Given the description of an element on the screen output the (x, y) to click on. 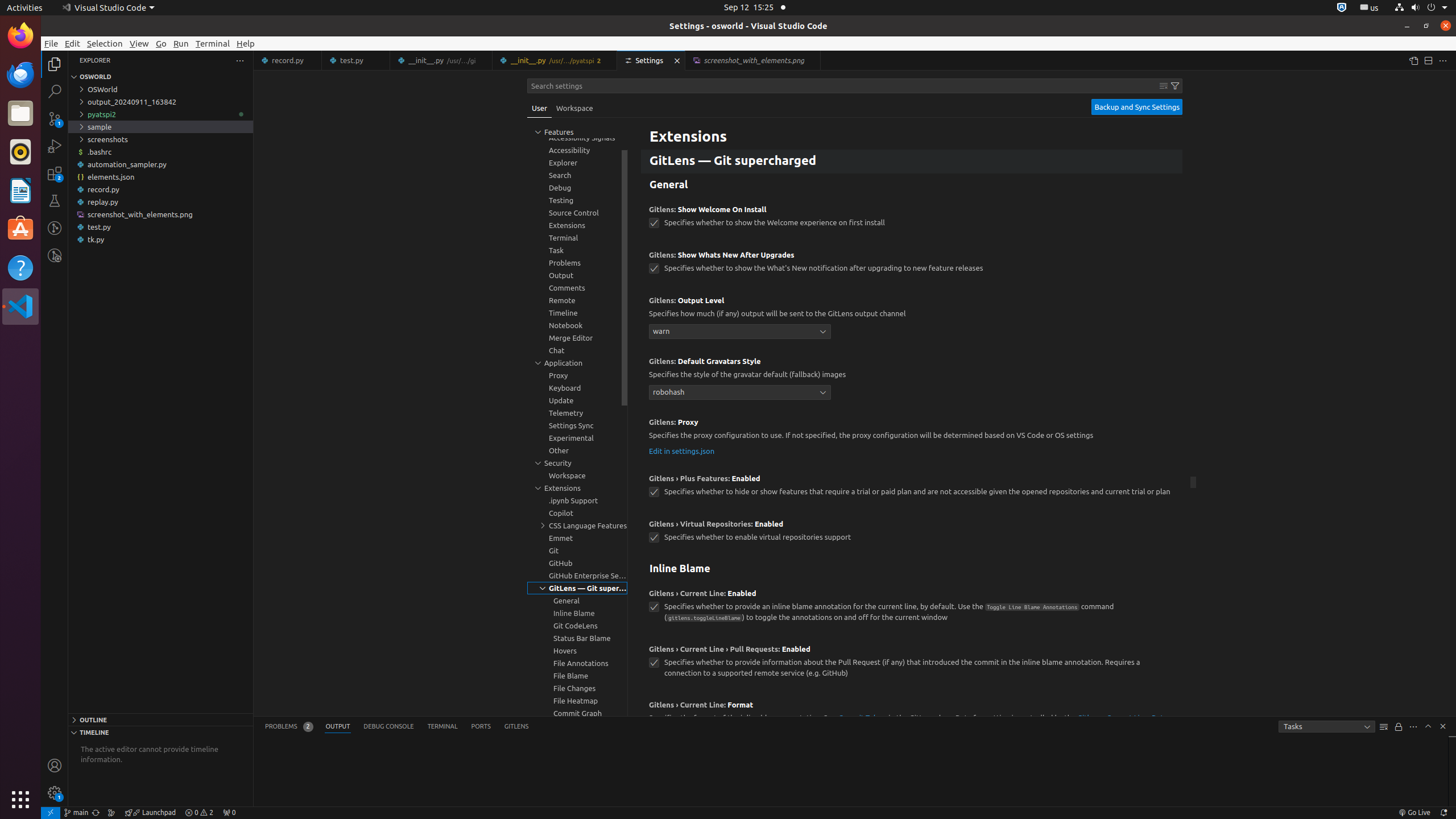
Edit in settings.json: gitlens.proxy Element type: push-button (681, 450)
GitLens Element type: page-tab (516, 726)
Ports Element type: page-tab (480, 726)
More Actions... (Shift+F9) Element type: push-button (634, 703)
Gitlens › Current Line › Pull Requests Enabled. Specifies whether to provide information about the Pull Request (if any) that introduced the commit in the inline blame annotation. Requires a connection to a supported remote service (e.g. GitHub)  Element type: tree-item (911, 664)
